Given the description of an element on the screen output the (x, y) to click on. 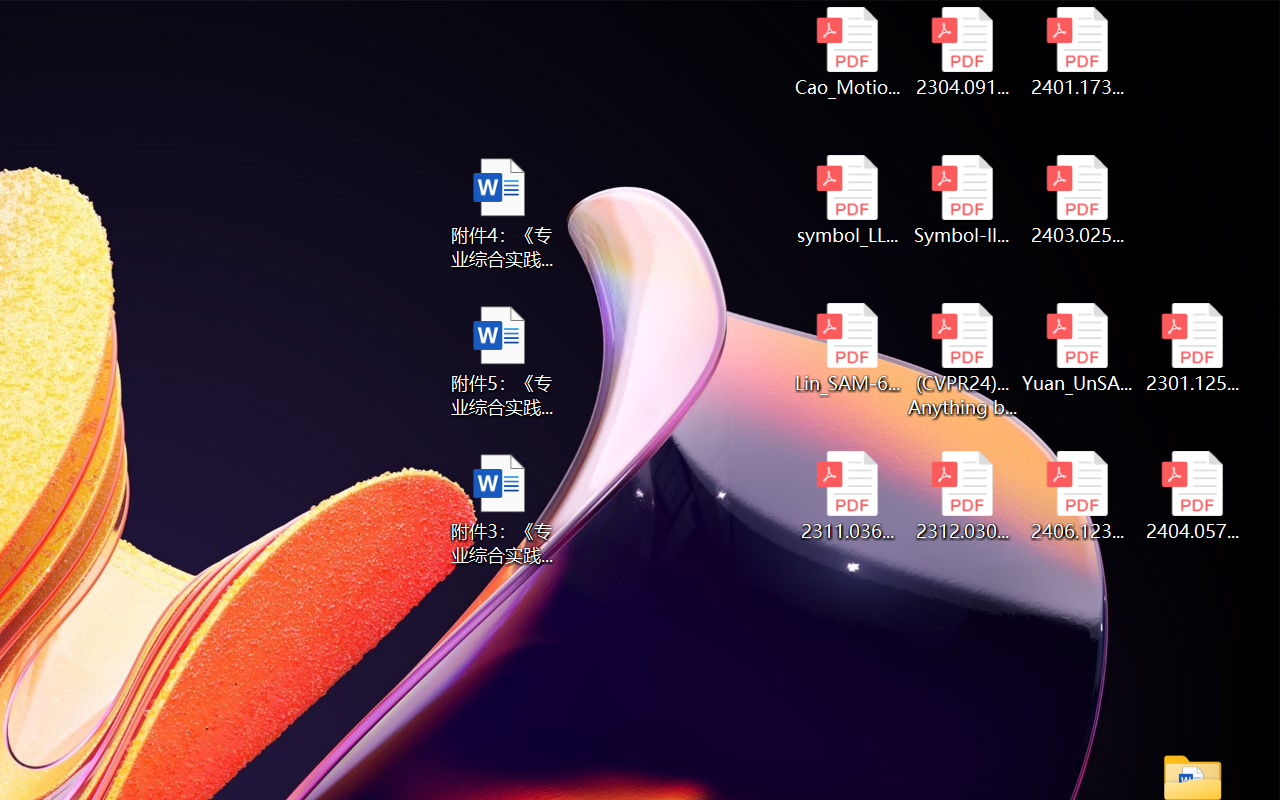
2312.03032v2.pdf (962, 496)
2406.12373v2.pdf (1077, 496)
(CVPR24)Matching Anything by Segmenting Anything.pdf (962, 360)
symbol_LLM.pdf (846, 200)
2311.03658v2.pdf (846, 496)
2403.02502v1.pdf (1077, 200)
2301.12597v3.pdf (1192, 348)
2404.05719v1.pdf (1192, 496)
Symbol-llm-v2.pdf (962, 200)
2304.09121v3.pdf (962, 52)
